Given the description of an element on the screen output the (x, y) to click on. 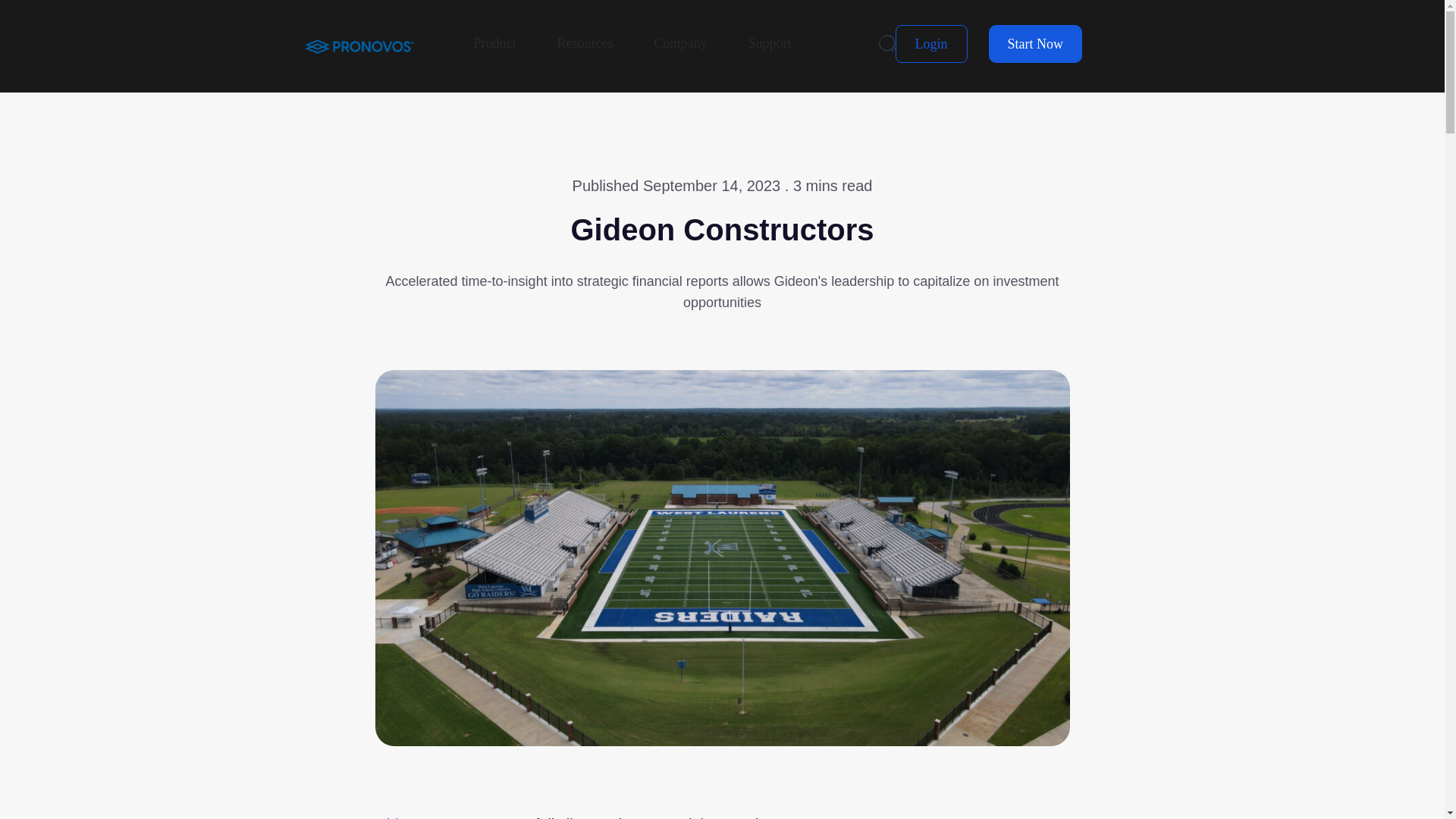
Form 0 (960, 814)
Company (679, 43)
Resources (584, 43)
